Given the description of an element on the screen output the (x, y) to click on. 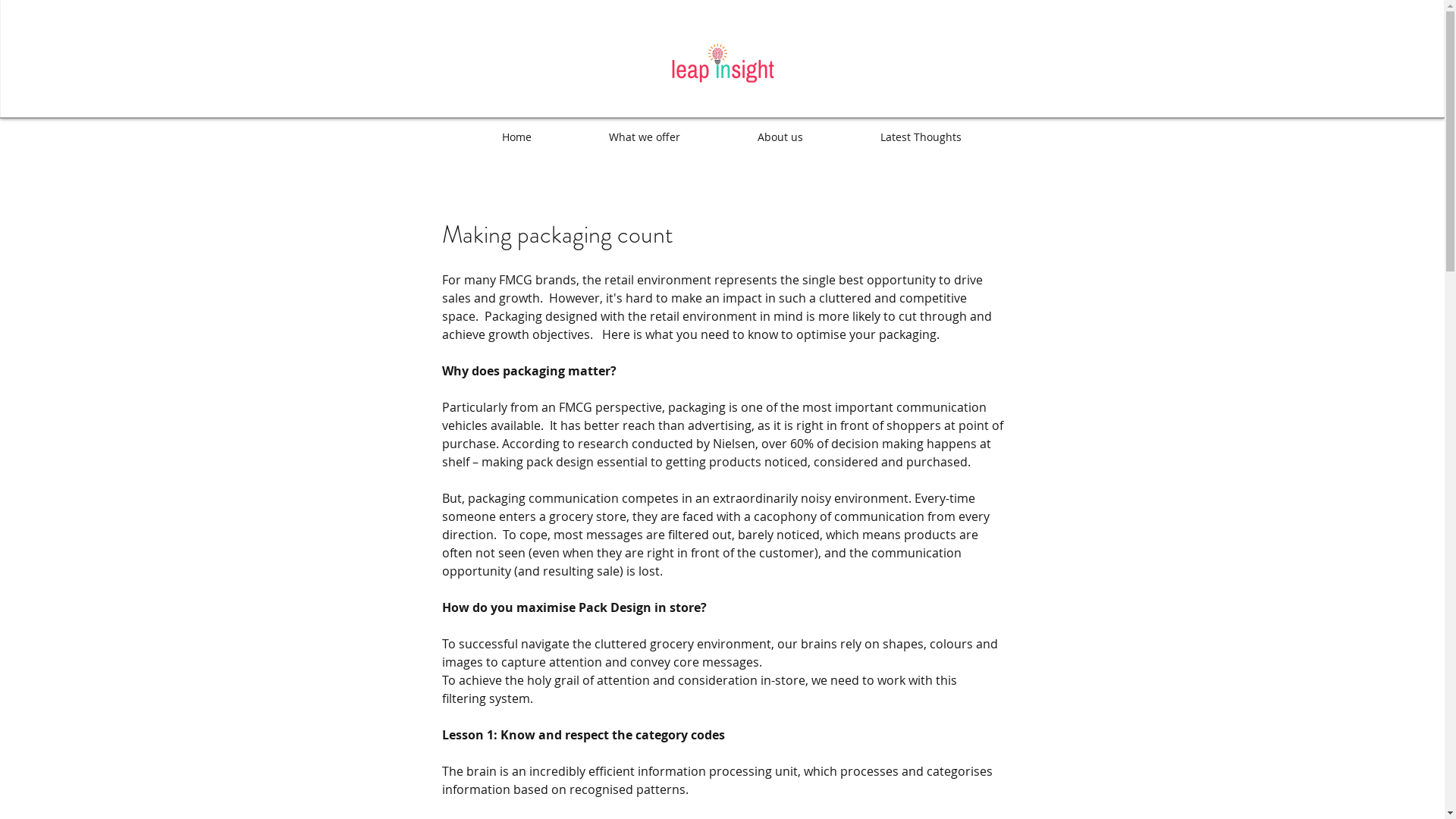
Latest Thoughts Element type: text (920, 137)
What we offer Element type: text (644, 137)
Home Element type: text (515, 137)
About us Element type: text (779, 137)
